Given the description of an element on the screen output the (x, y) to click on. 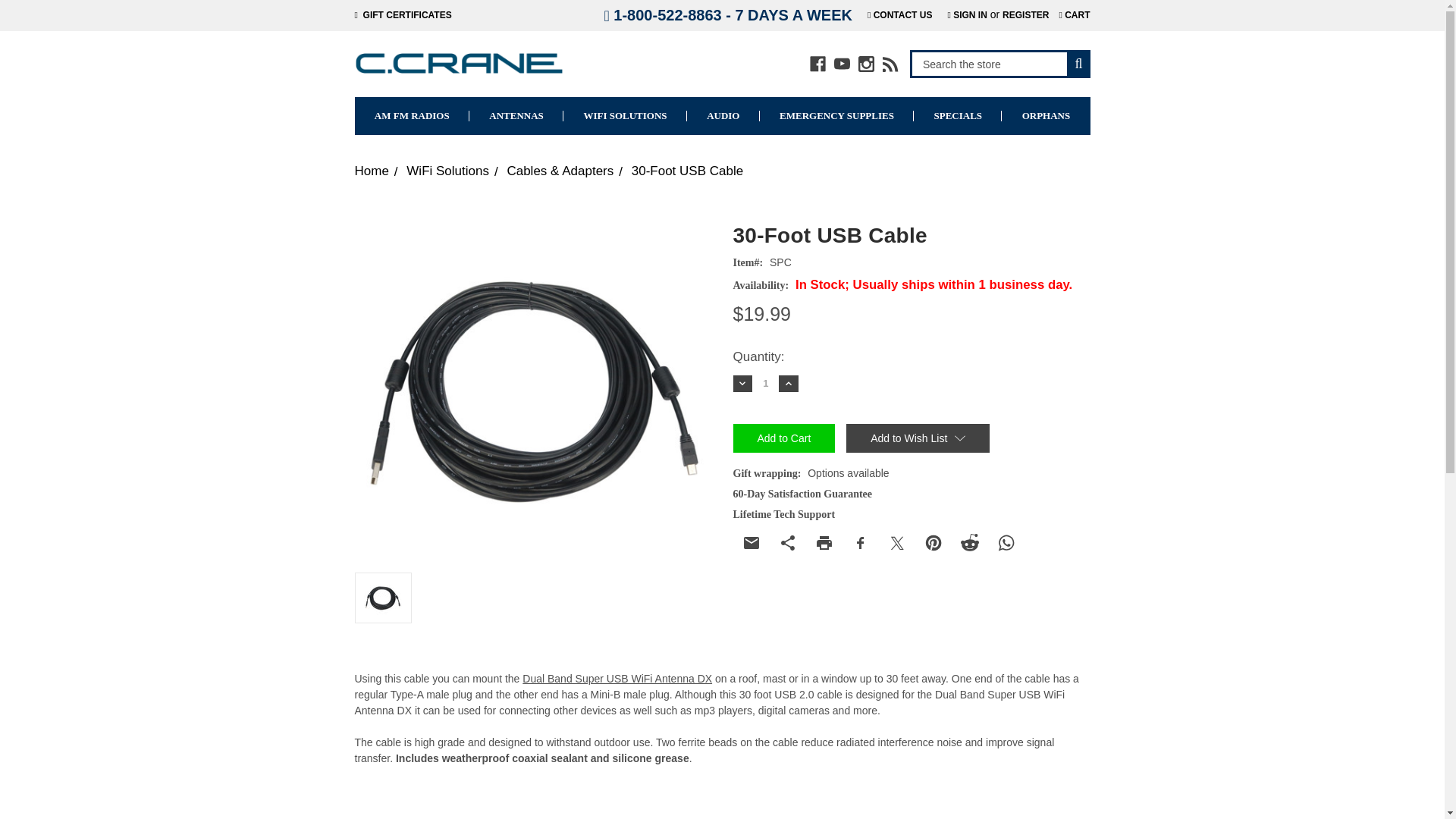
30-Foot USB Cable (533, 385)
WIFI SOLUTIONS (625, 116)
REGISTER (1025, 15)
30-Foot USB Cable (382, 597)
 CONTACT US (900, 15)
  GIFT CERTIFICATES (403, 15)
C Crane  (459, 63)
1 (765, 383)
ANTENNAS (515, 116)
AM FM RADIOS (412, 116)
